Given the description of an element on the screen output the (x, y) to click on. 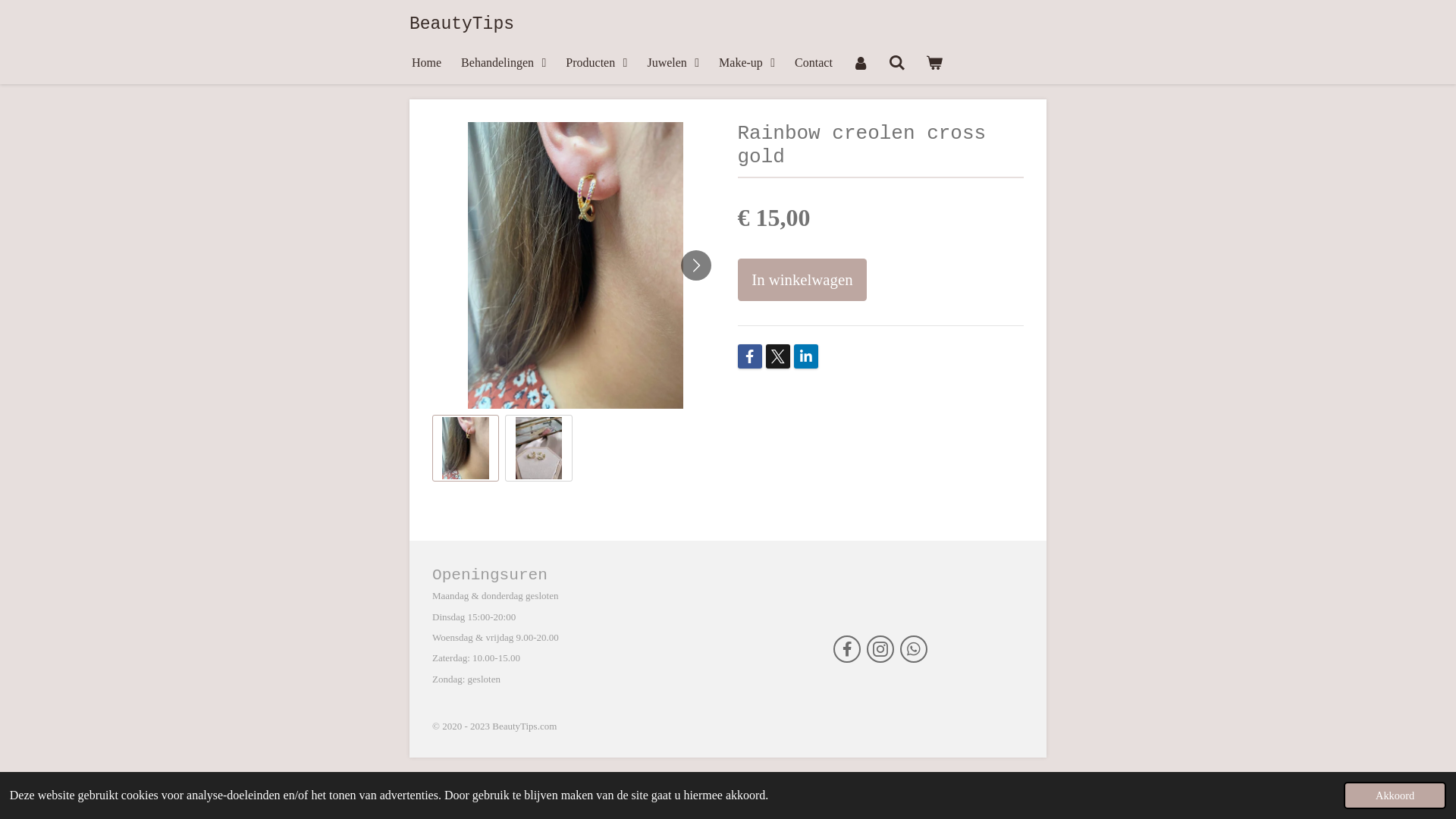
Juwelen Element type: text (673, 62)
Zoeken Element type: hover (896, 62)
Account Element type: hover (860, 62)
Producten Element type: text (596, 62)
In winkelwagen Element type: text (801, 279)
Behandelingen Element type: text (503, 62)
Home Element type: text (426, 62)
Akkoord Element type: text (1394, 795)
Bekijk winkelwagen Element type: hover (934, 62)
Contact Element type: text (813, 62)
Make-up Element type: text (746, 62)
BeautyTips Element type: text (461, 23)
